Given the description of an element on the screen output the (x, y) to click on. 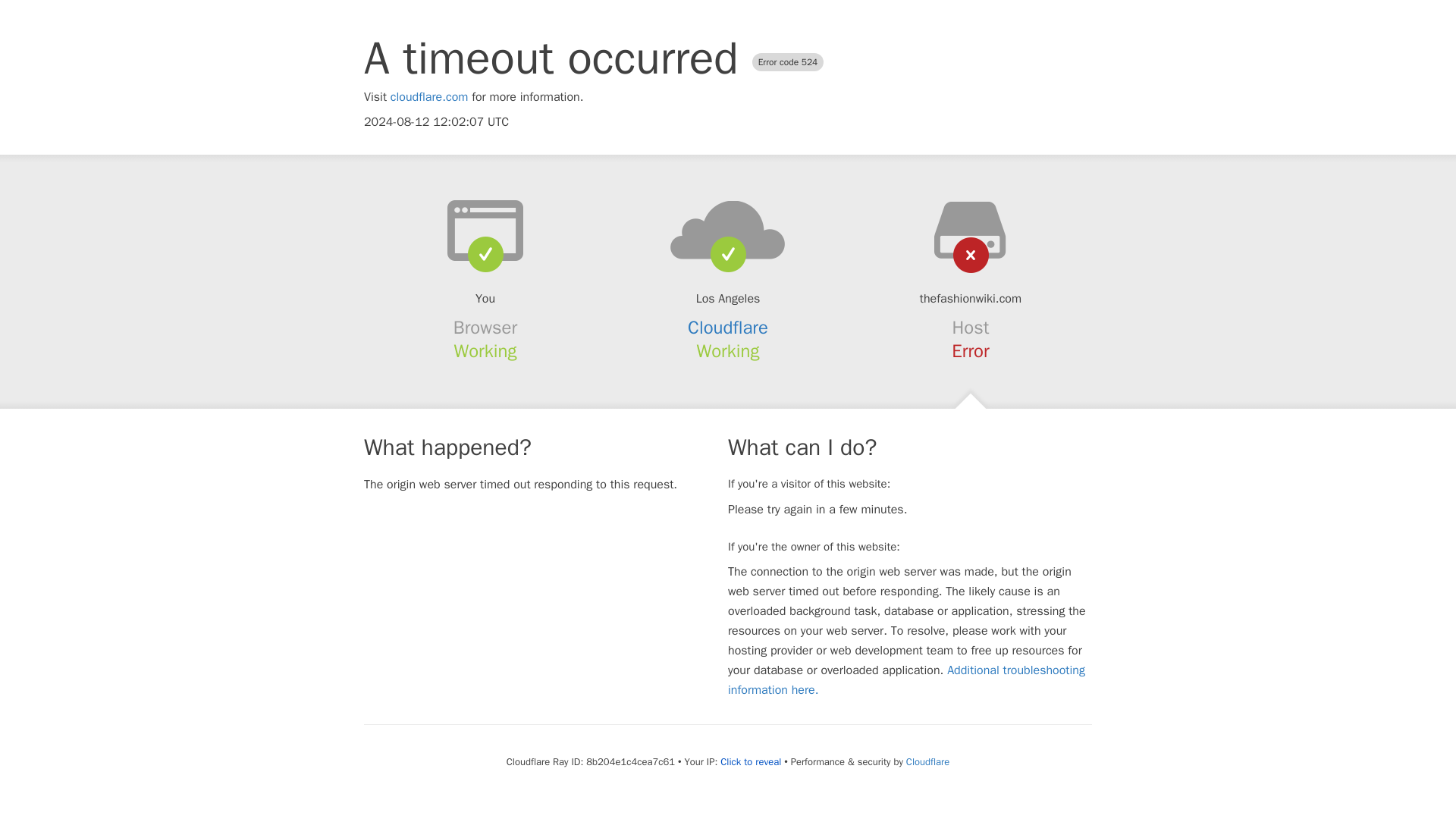
Cloudflare (927, 761)
Click to reveal (750, 762)
cloudflare.com (429, 96)
Additional troubleshooting information here. (906, 679)
Cloudflare (727, 327)
